Given the description of an element on the screen output the (x, y) to click on. 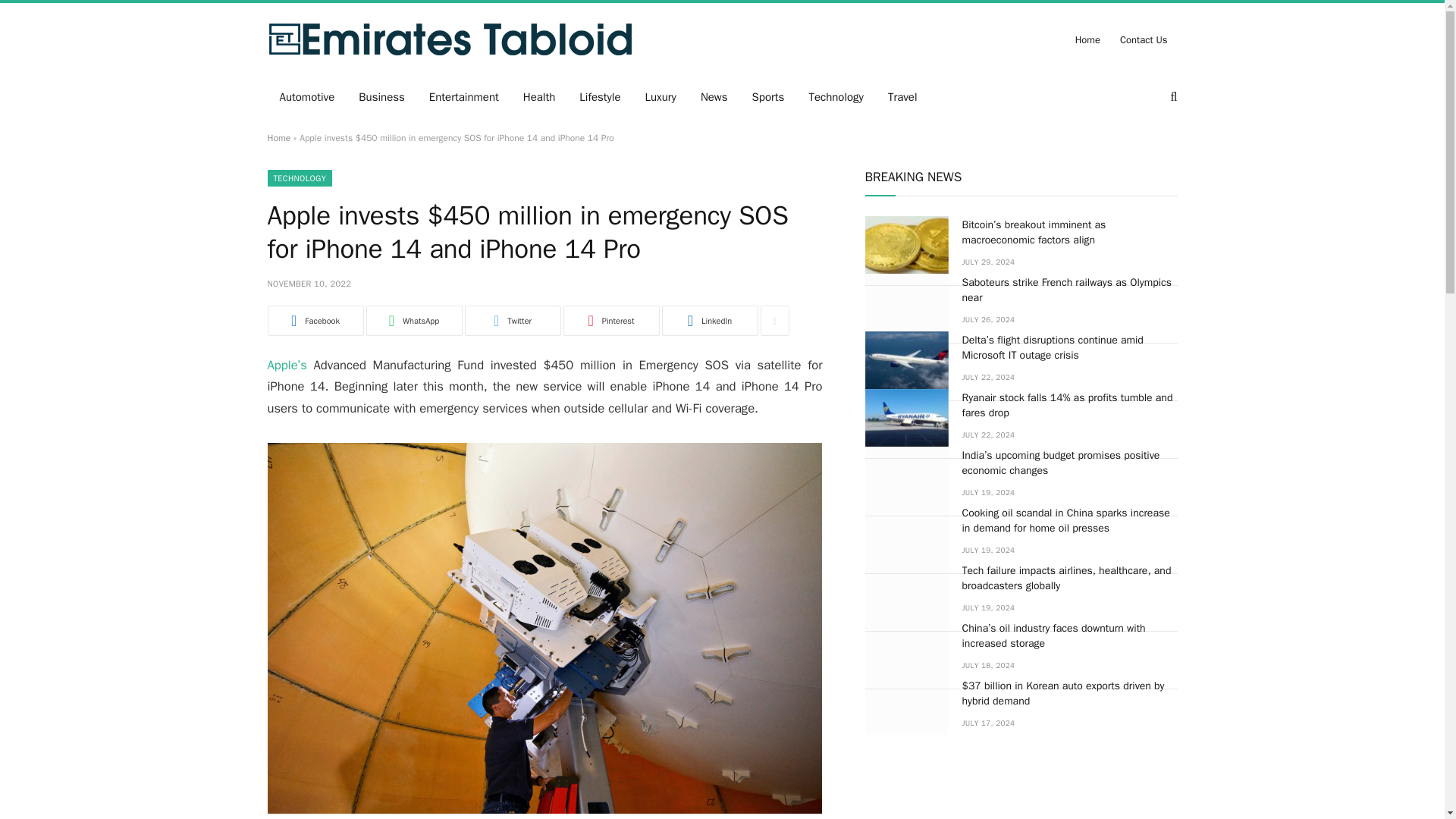
Share on WhatsApp (413, 320)
Twitter (512, 320)
Technology (836, 96)
Share on LinkedIn (709, 320)
TECHNOLOGY (298, 177)
Entertainment (463, 96)
Facebook (314, 320)
Home (277, 137)
Luxury (660, 96)
Share on Facebook (314, 320)
Share on Pinterest (610, 320)
Lifestyle (599, 96)
Emirates Tabloid (448, 39)
LinkedIn (709, 320)
Automotive (306, 96)
